Given the description of an element on the screen output the (x, y) to click on. 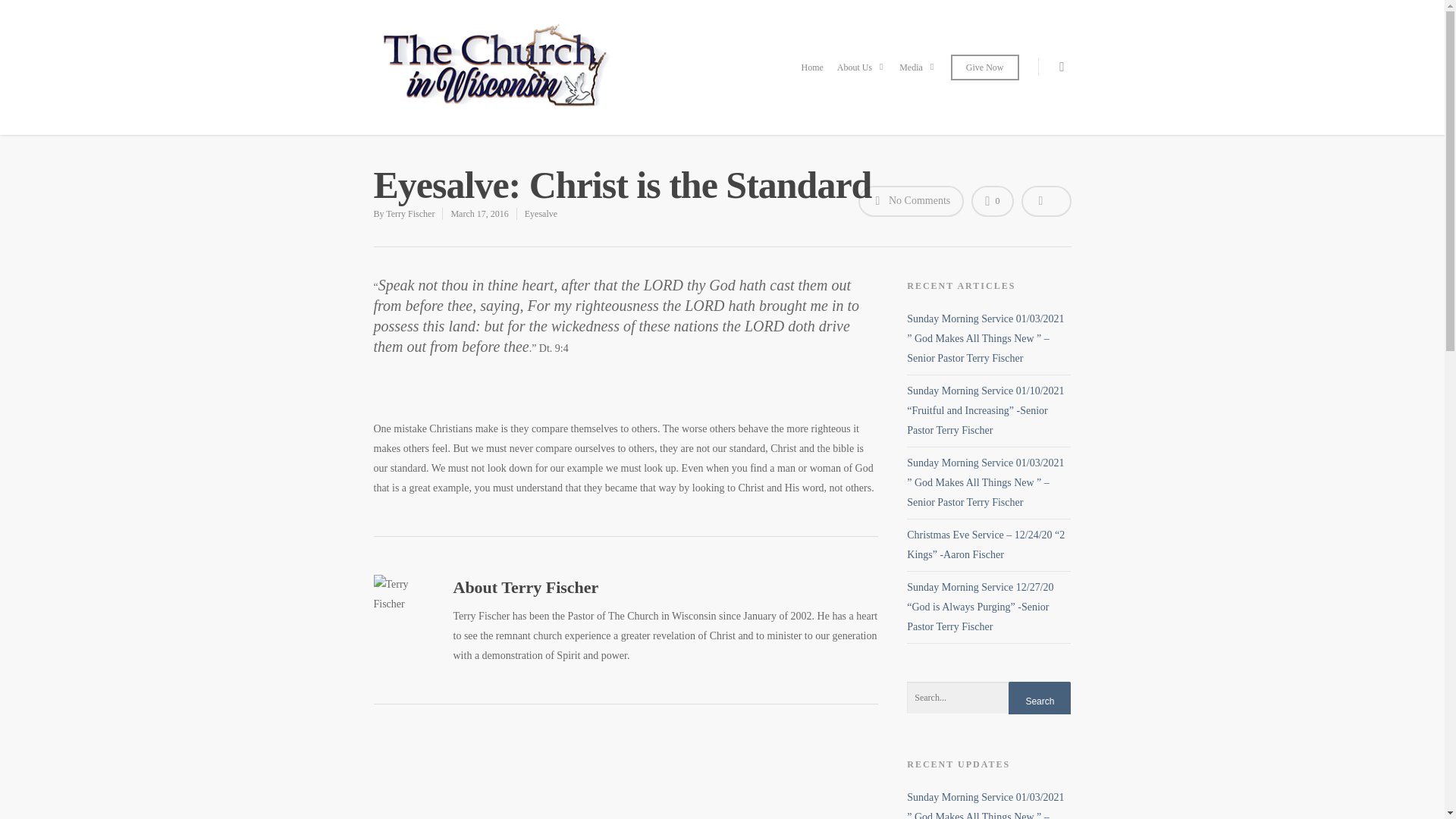
Search (1039, 701)
Search (1039, 701)
Terry Fischer (409, 213)
Love this (992, 201)
Search (1039, 701)
Eyesalve (540, 213)
Search for: (988, 697)
Posts by Terry Fischer (409, 213)
No Comments (911, 201)
0 (992, 201)
